Given the description of an element on the screen output the (x, y) to click on. 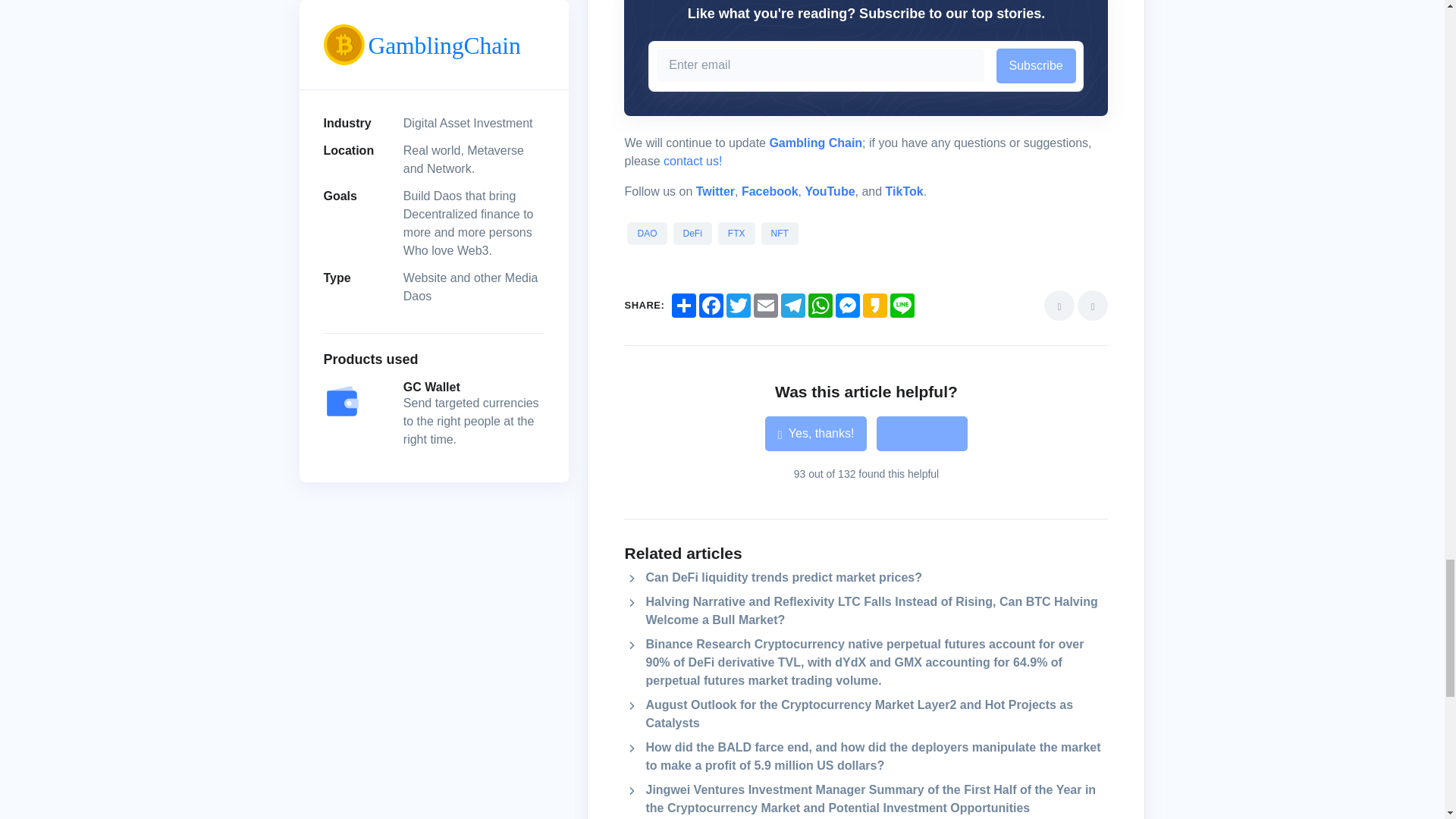
Gambling Chain (814, 142)
DAO (646, 233)
NFT (780, 233)
Facebook (711, 305)
YouTube (829, 191)
Kakao (874, 305)
WhatsApp (820, 305)
FTX (736, 233)
Line (901, 305)
Email (765, 305)
